Given the description of an element on the screen output the (x, y) to click on. 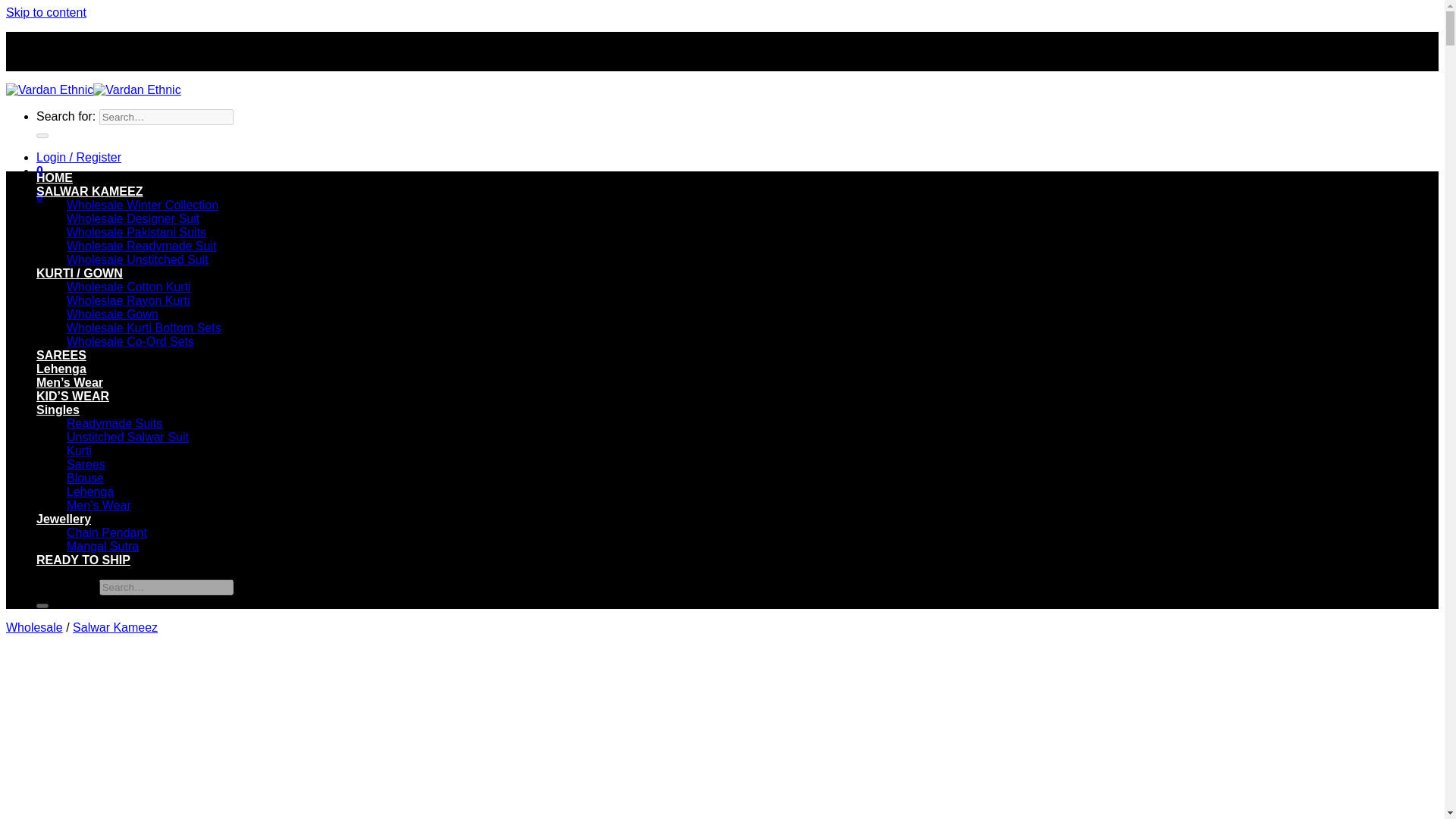
Wholesale Co-Ord Sets (129, 341)
Salwar Kameez (114, 626)
Wholesale Readymade Suit (140, 245)
SAREES (60, 354)
Chain Pendant (106, 532)
Unstitched Salwar Suit (127, 436)
Kurti (78, 450)
Wholesale Unstitched Suit (137, 259)
Sarees (85, 463)
Singles (58, 409)
